Given the description of an element on the screen output the (x, y) to click on. 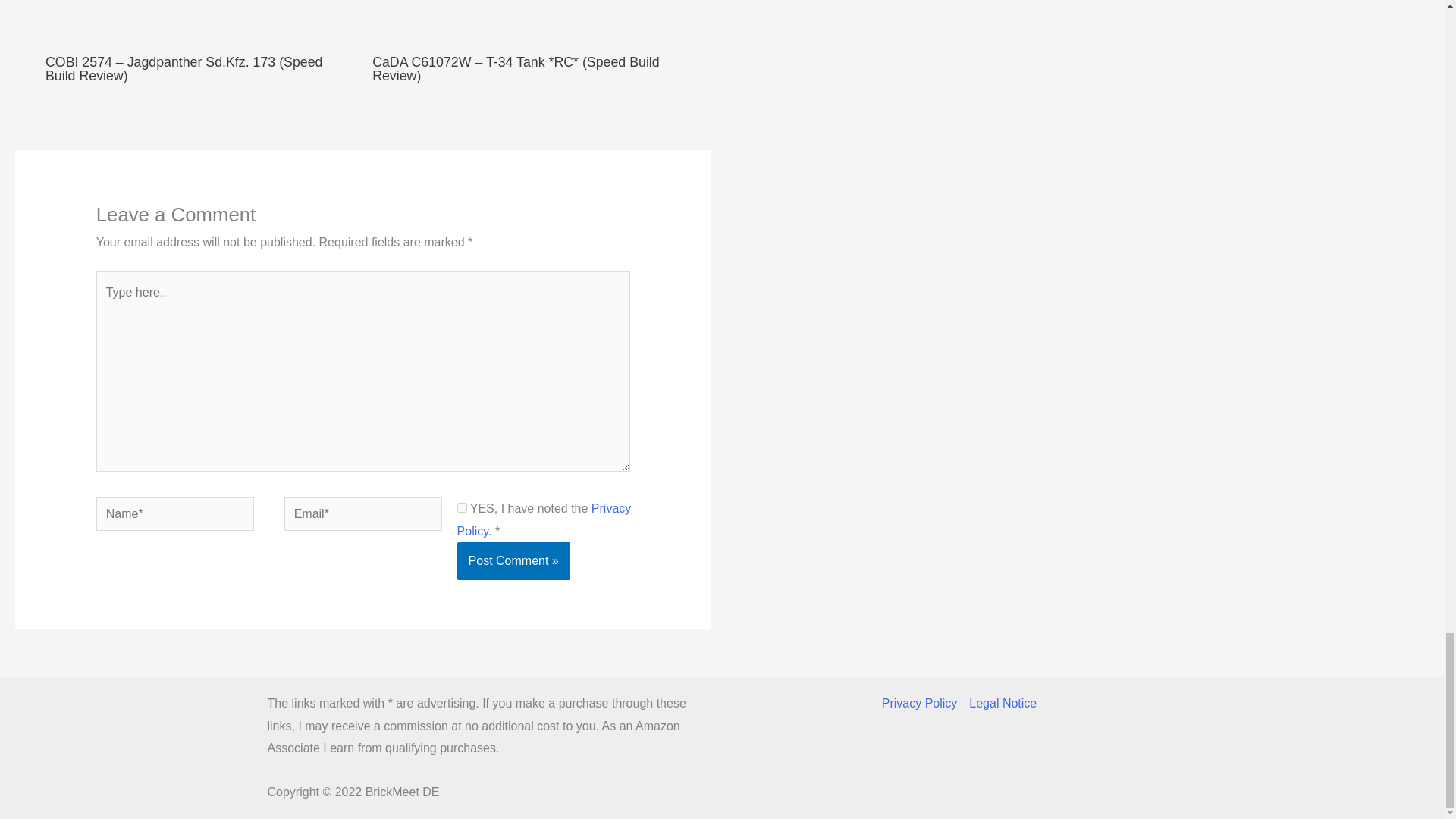
on (462, 507)
